Given the description of an element on the screen output the (x, y) to click on. 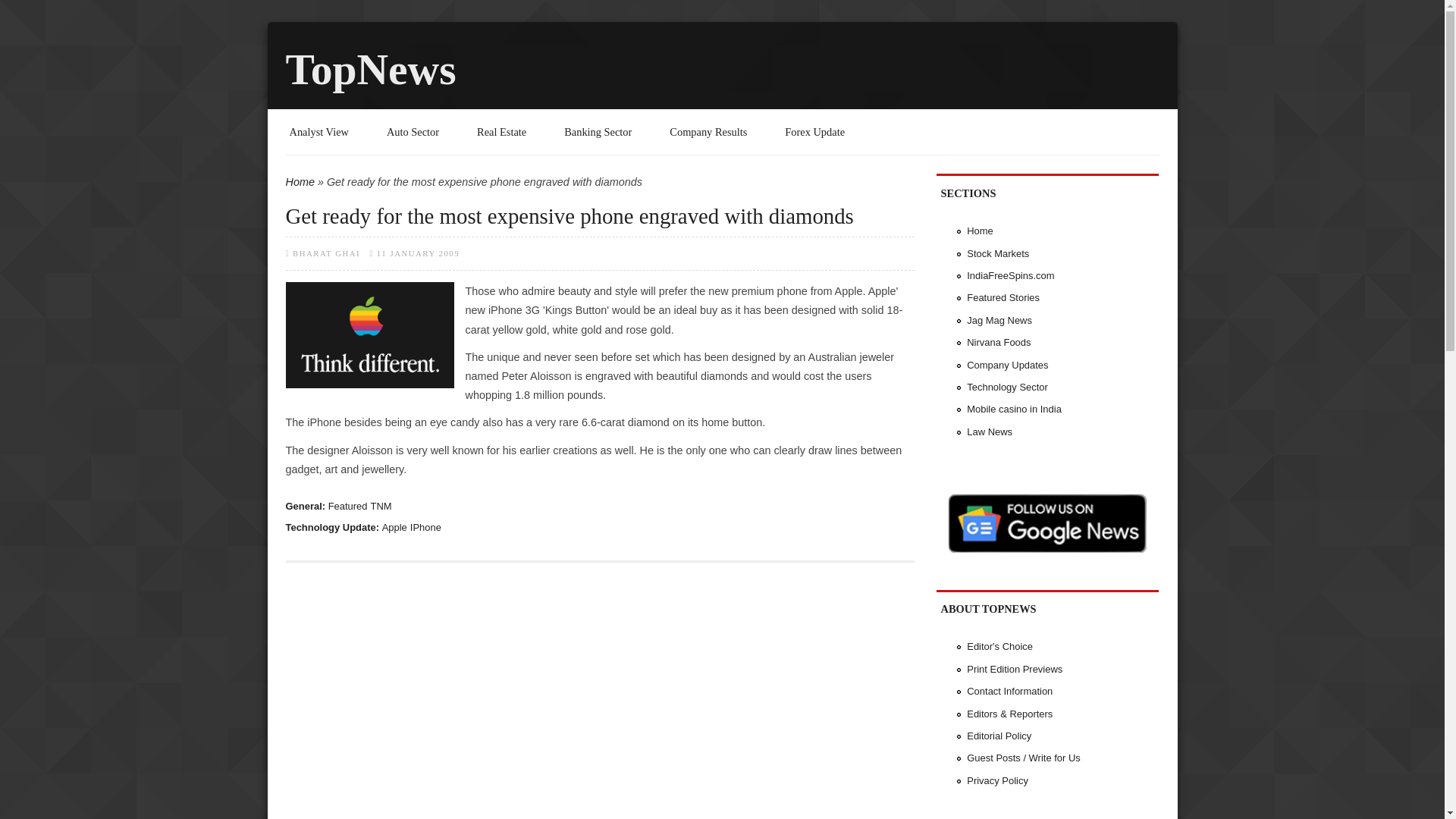
Auto Sector (413, 132)
Privacy Policy (996, 780)
Real Estate (501, 132)
Forex Update (814, 132)
Home (370, 69)
Contact Information (1009, 690)
Home (979, 230)
Jag Mag News (999, 319)
Analyst View (319, 132)
Home (299, 182)
Company Updates (1007, 365)
Mobile casino in India (1013, 408)
Apple (394, 527)
IndiaFreeSpins.com (1010, 275)
